Given the description of an element on the screen output the (x, y) to click on. 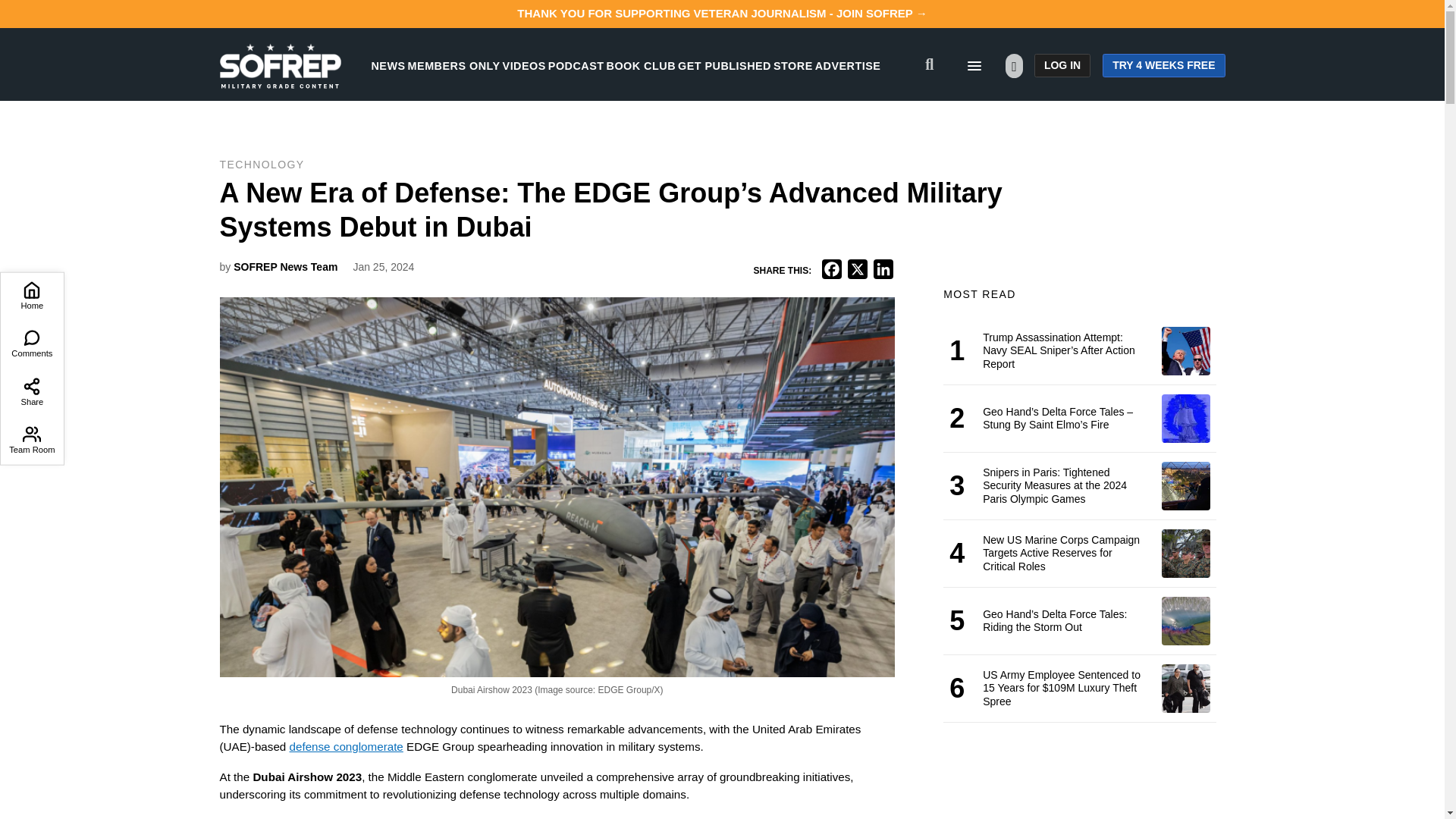
VIDEOS (524, 65)
LOG IN (1061, 65)
NEWS (388, 65)
PODCAST (576, 65)
GET PUBLISHED (724, 65)
TRY 4 WEEKS FREE (1163, 65)
BOOK CLUB (641, 65)
ADVERTISE (847, 65)
STORE (792, 65)
MEMBERS ONLY (453, 65)
